Given the description of an element on the screen output the (x, y) to click on. 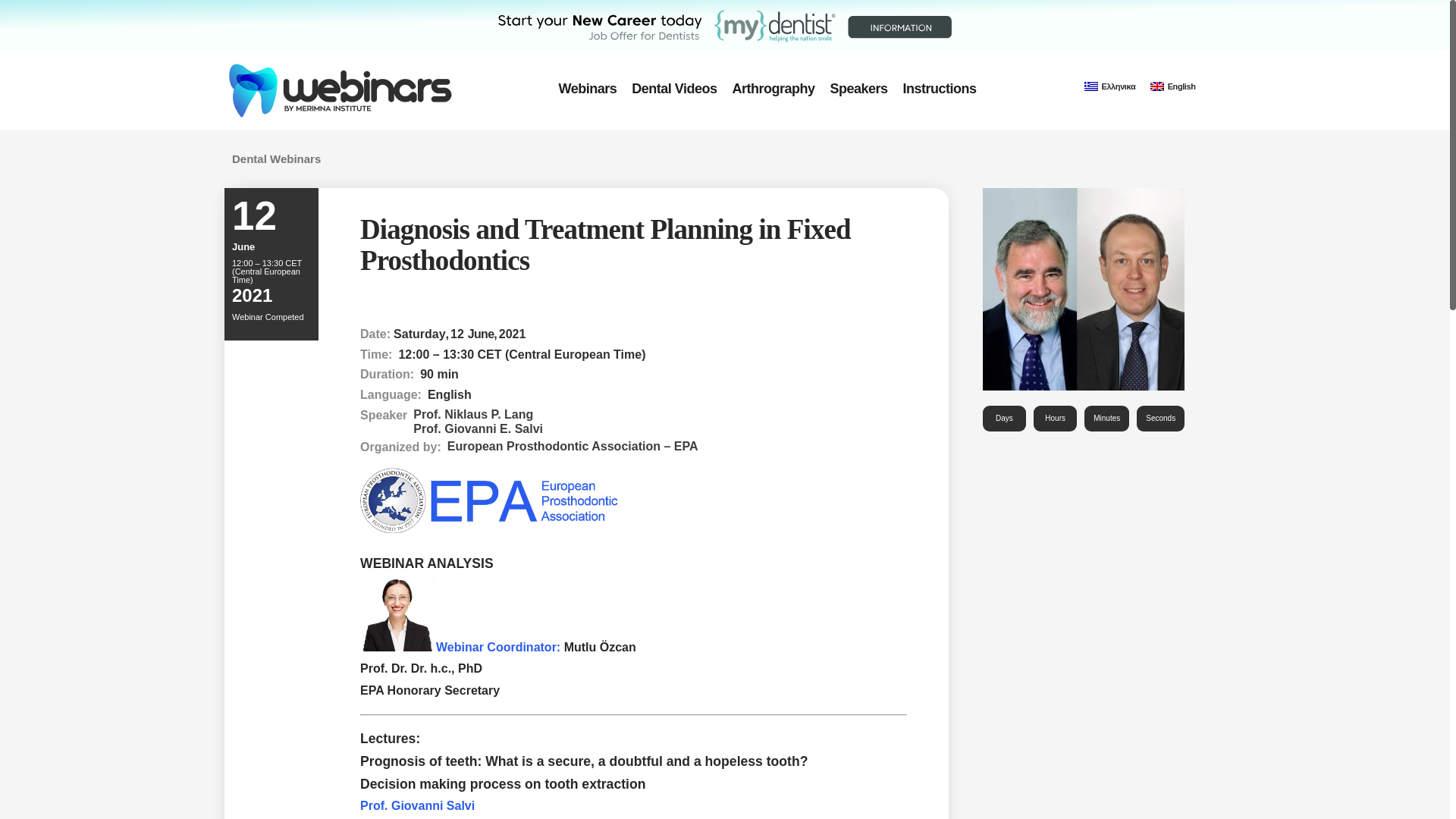
Prof. Giovanni E. Salvi (478, 427)
Speakers (858, 88)
Webinars (587, 88)
Arthrography (772, 88)
English (1172, 86)
Dental Webinars (275, 158)
epa2 (1083, 288)
Dental Videos (673, 88)
Instructions (939, 88)
Prof. Niklaus P. Lang (478, 413)
